Given the description of an element on the screen output the (x, y) to click on. 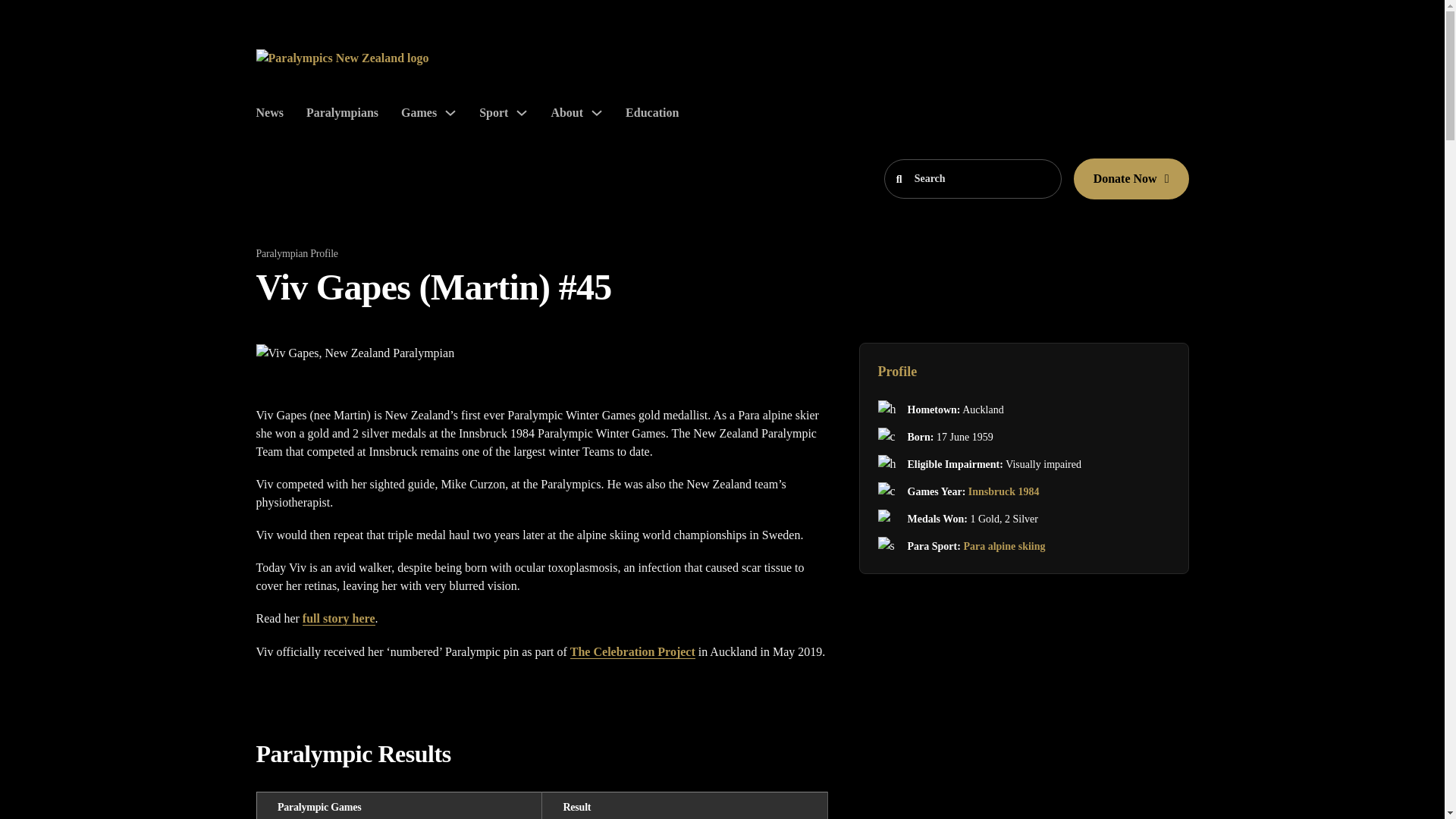
News (269, 112)
Sport (493, 112)
About (566, 112)
Games (418, 112)
Paralympians (341, 112)
